Given the description of an element on the screen output the (x, y) to click on. 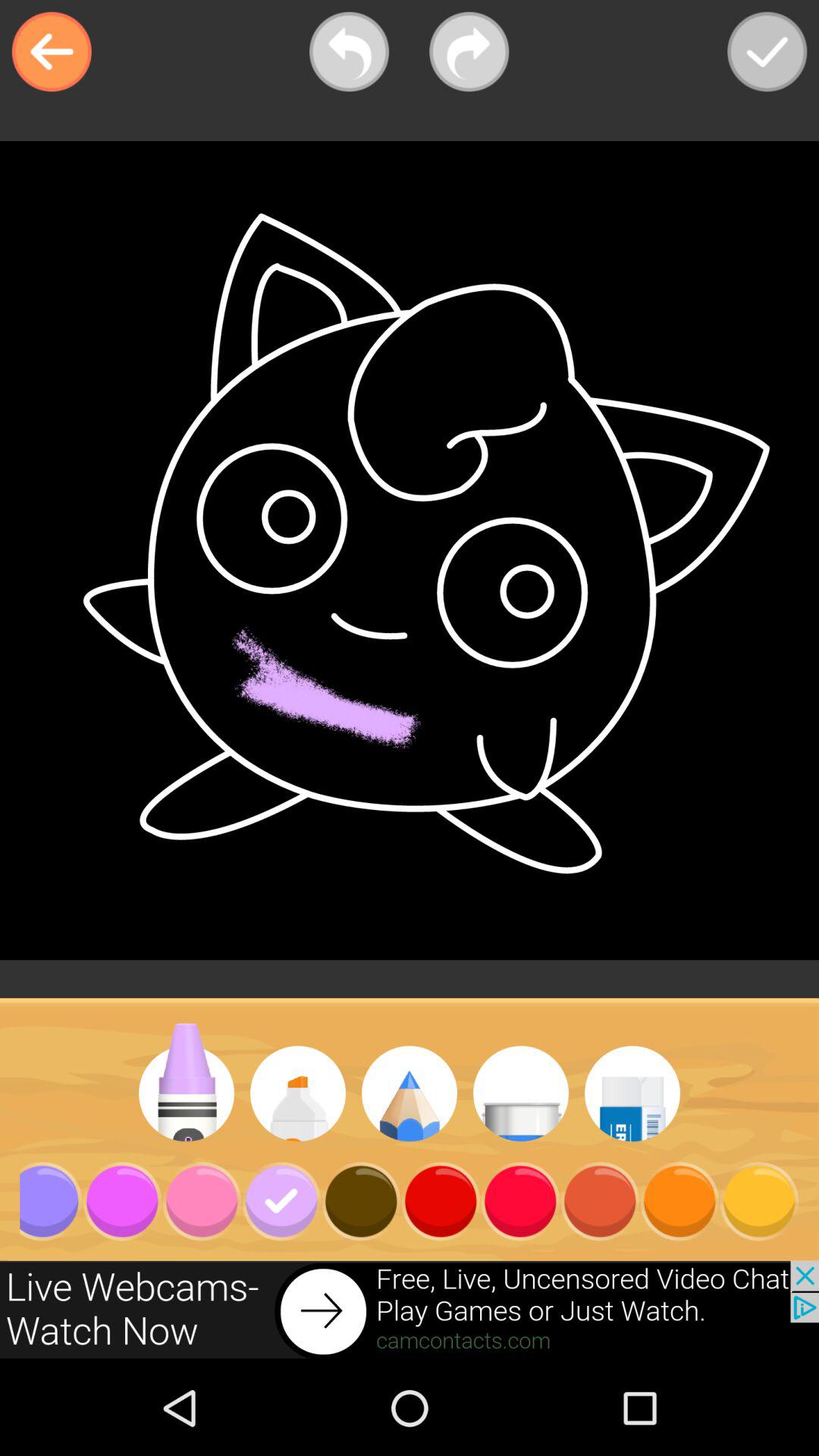
finish drawing (767, 51)
